Given the description of an element on the screen output the (x, y) to click on. 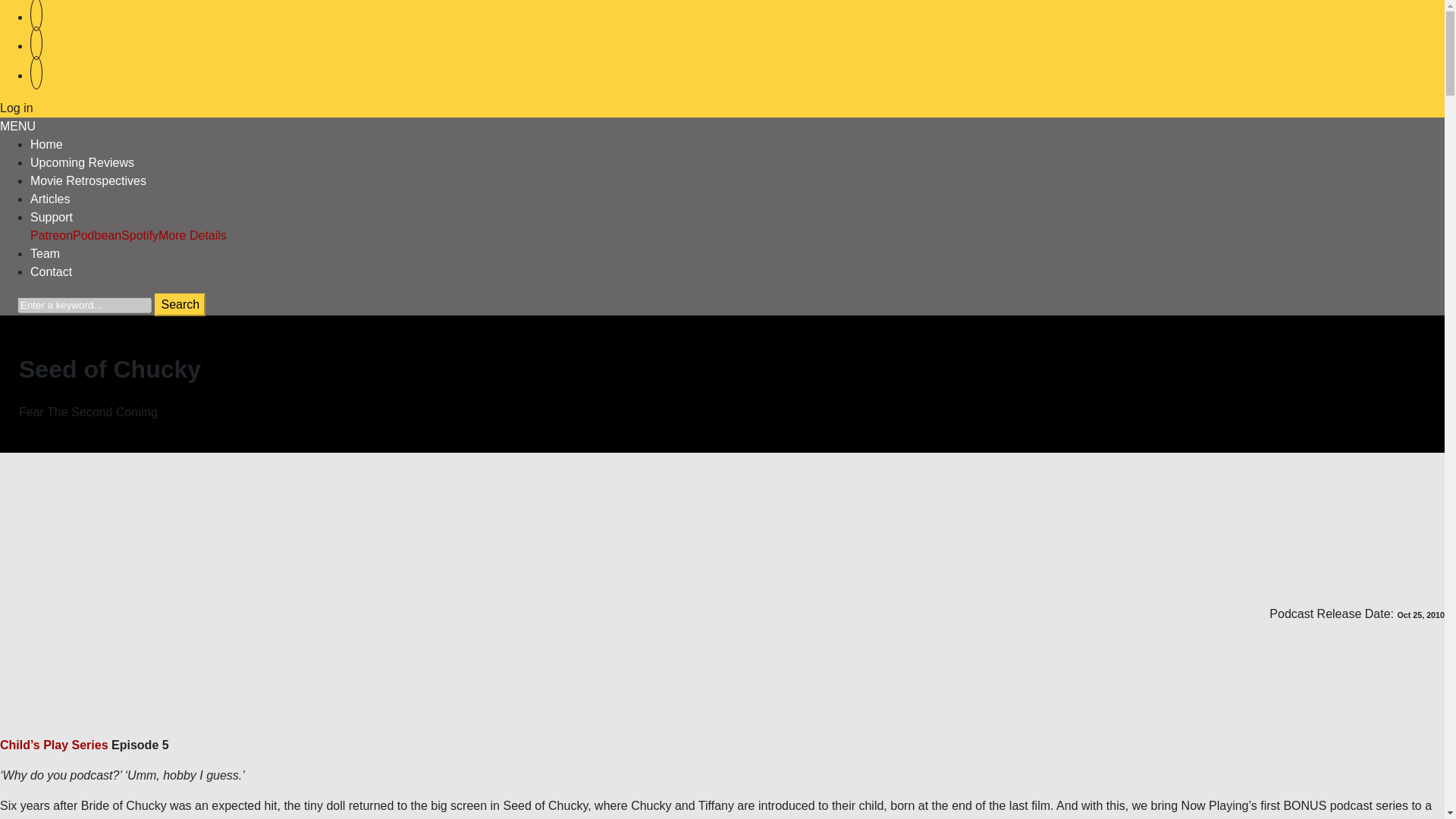
Articles (49, 198)
Patreon (51, 235)
Support (51, 216)
Log in (16, 107)
Contact (50, 271)
Team (44, 253)
Movie Retrospectives (88, 180)
Spotify (139, 235)
Podbean (96, 235)
Upcoming Reviews (81, 162)
More Details (192, 235)
Search (179, 304)
Home (46, 144)
